Given the description of an element on the screen output the (x, y) to click on. 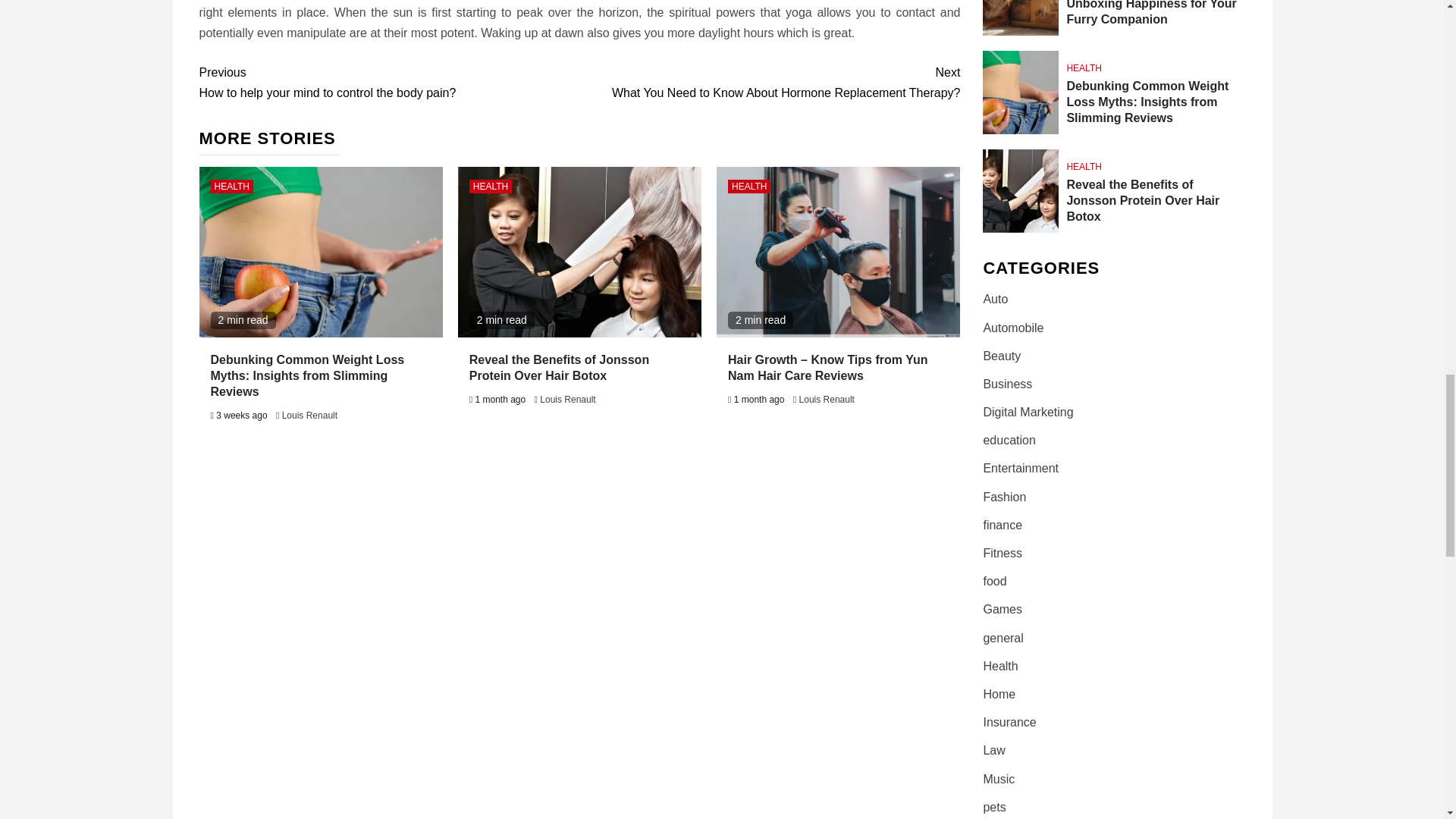
HEALTH (490, 186)
Louis Renault (309, 415)
HEALTH (232, 186)
Reveal the Benefits of Jonsson Protein Over Hair Botox (388, 82)
Louis Renault (558, 367)
HEALTH (567, 398)
Louis Renault (749, 186)
